Given the description of an element on the screen output the (x, y) to click on. 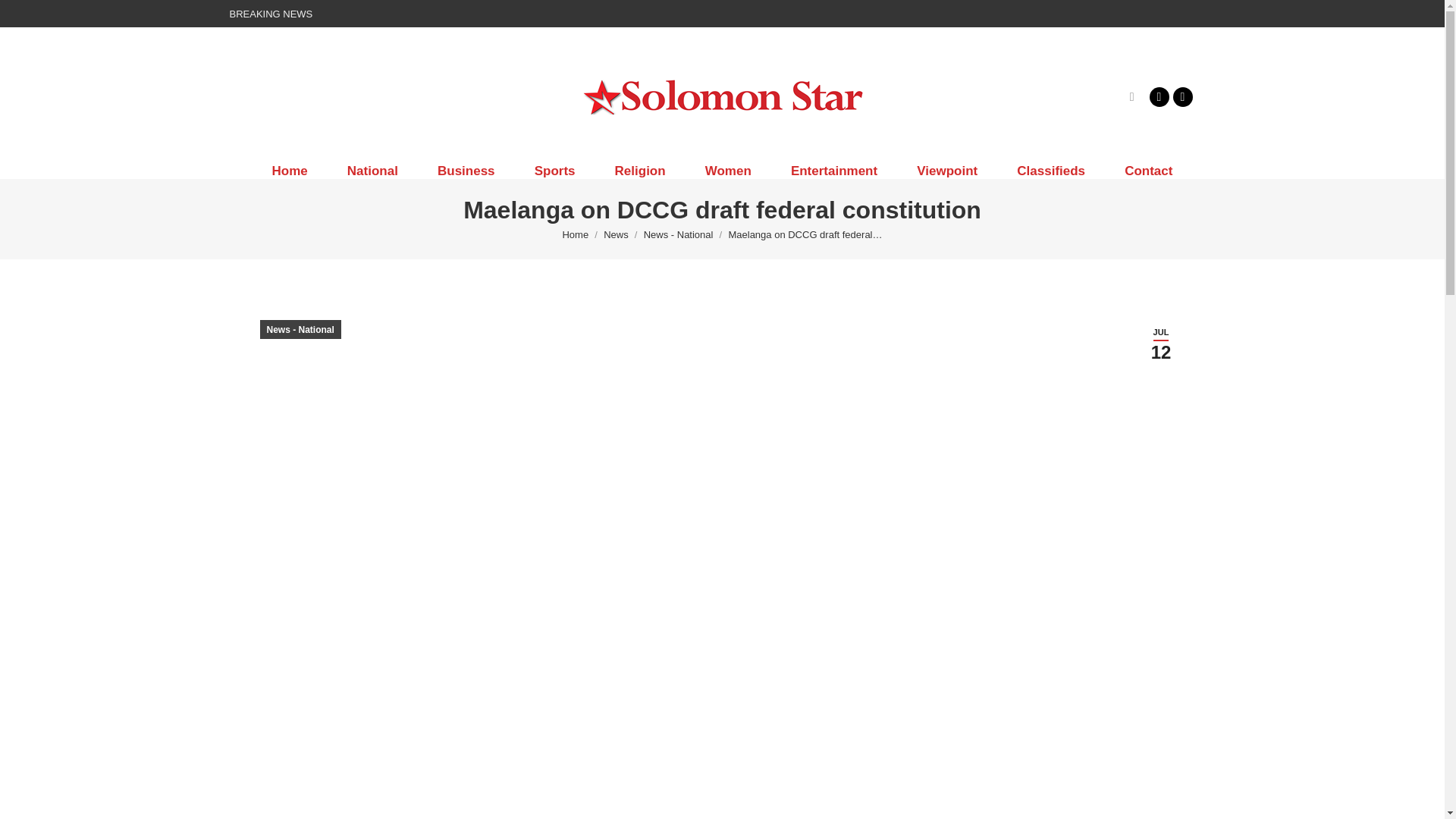
National (372, 170)
Facebook page opens in new window (1159, 96)
News (616, 234)
Entertainment (833, 170)
X page opens in new window (1182, 96)
Home (575, 234)
Contact (1148, 170)
Facebook page opens in new window (1159, 96)
X page opens in new window (1182, 96)
Religion (640, 170)
8:26 pm (1161, 343)
Go! (24, 17)
News - National (678, 234)
Viewpoint (946, 170)
Women (728, 170)
